Given the description of an element on the screen output the (x, y) to click on. 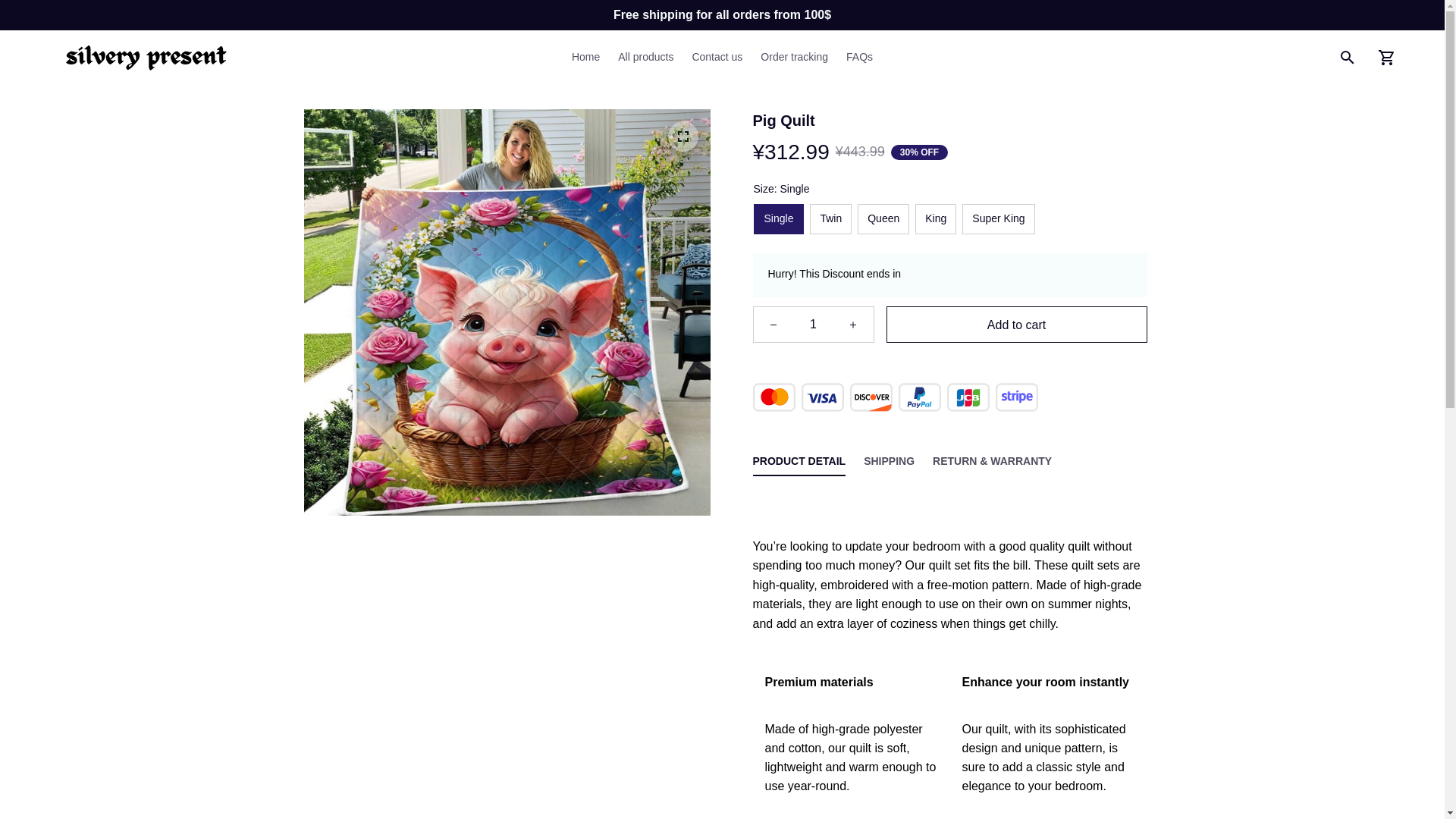
Order tracking (794, 57)
All products (645, 57)
SHIPPING (888, 460)
1 (812, 324)
Home (590, 57)
PRODUCT DETAIL (798, 460)
Contact us (716, 57)
FAQs (854, 57)
